Given the description of an element on the screen output the (x, y) to click on. 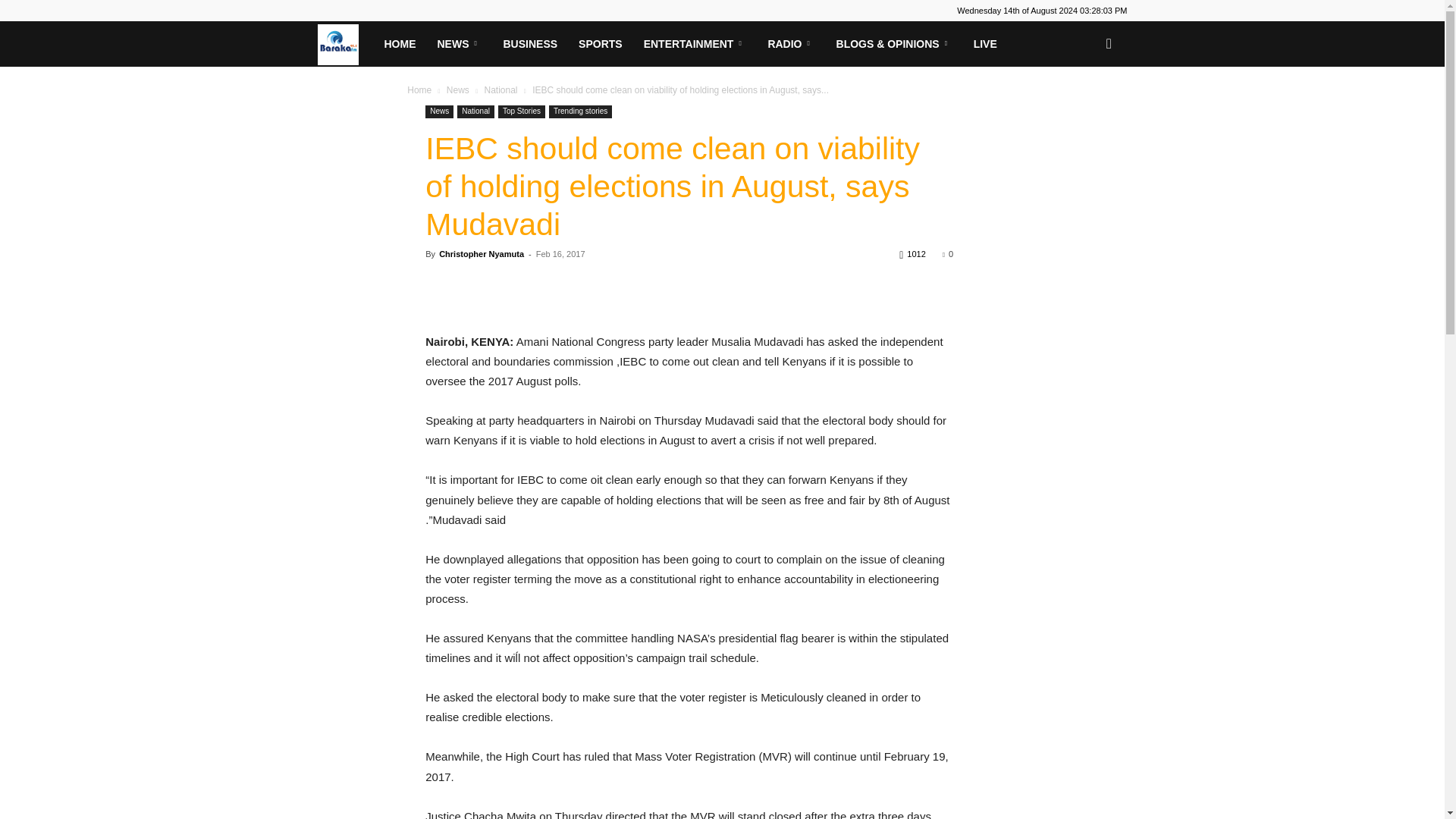
NEWS (459, 43)
HOME (399, 43)
Baraka FM 95.5 (344, 43)
